Given the description of an element on the screen output the (x, y) to click on. 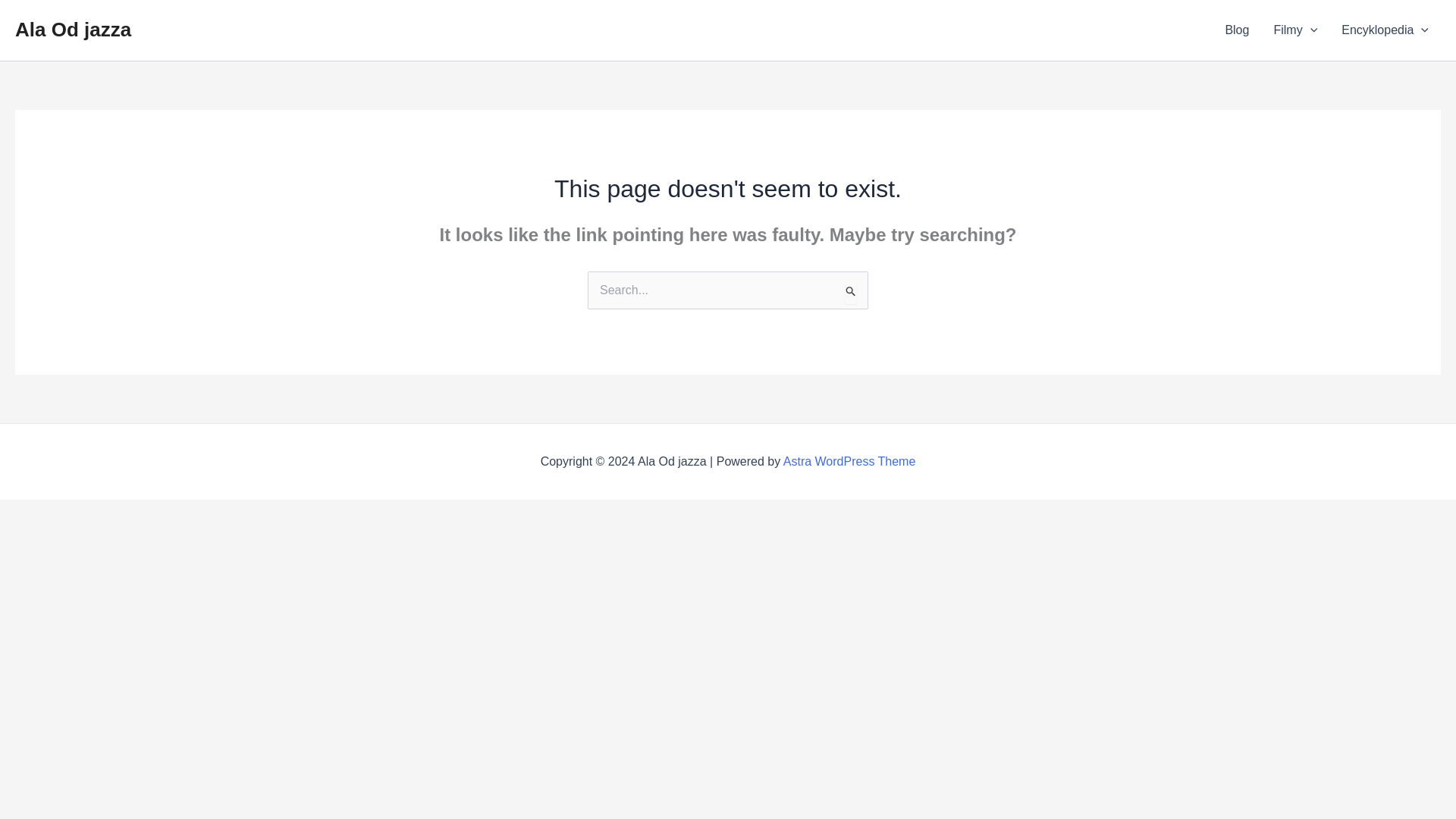
Ala Od jazza (72, 29)
Filmy (1294, 30)
Encyklopedia (1385, 30)
Blog (1236, 30)
Search (850, 292)
Search (850, 292)
